Given the description of an element on the screen output the (x, y) to click on. 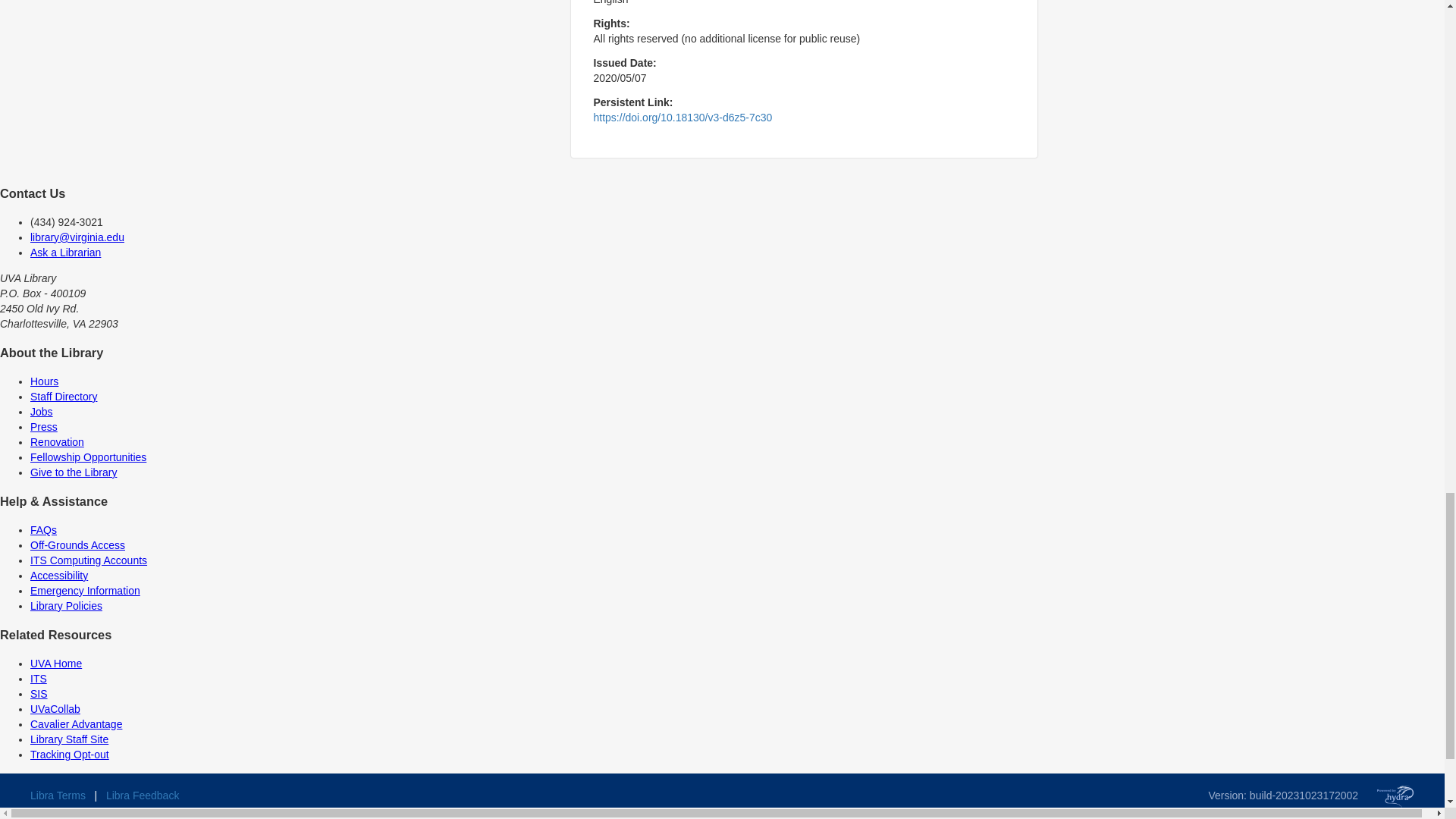
Libra Feedback (142, 795)
Libra Terms (57, 795)
